Given the description of an element on the screen output the (x, y) to click on. 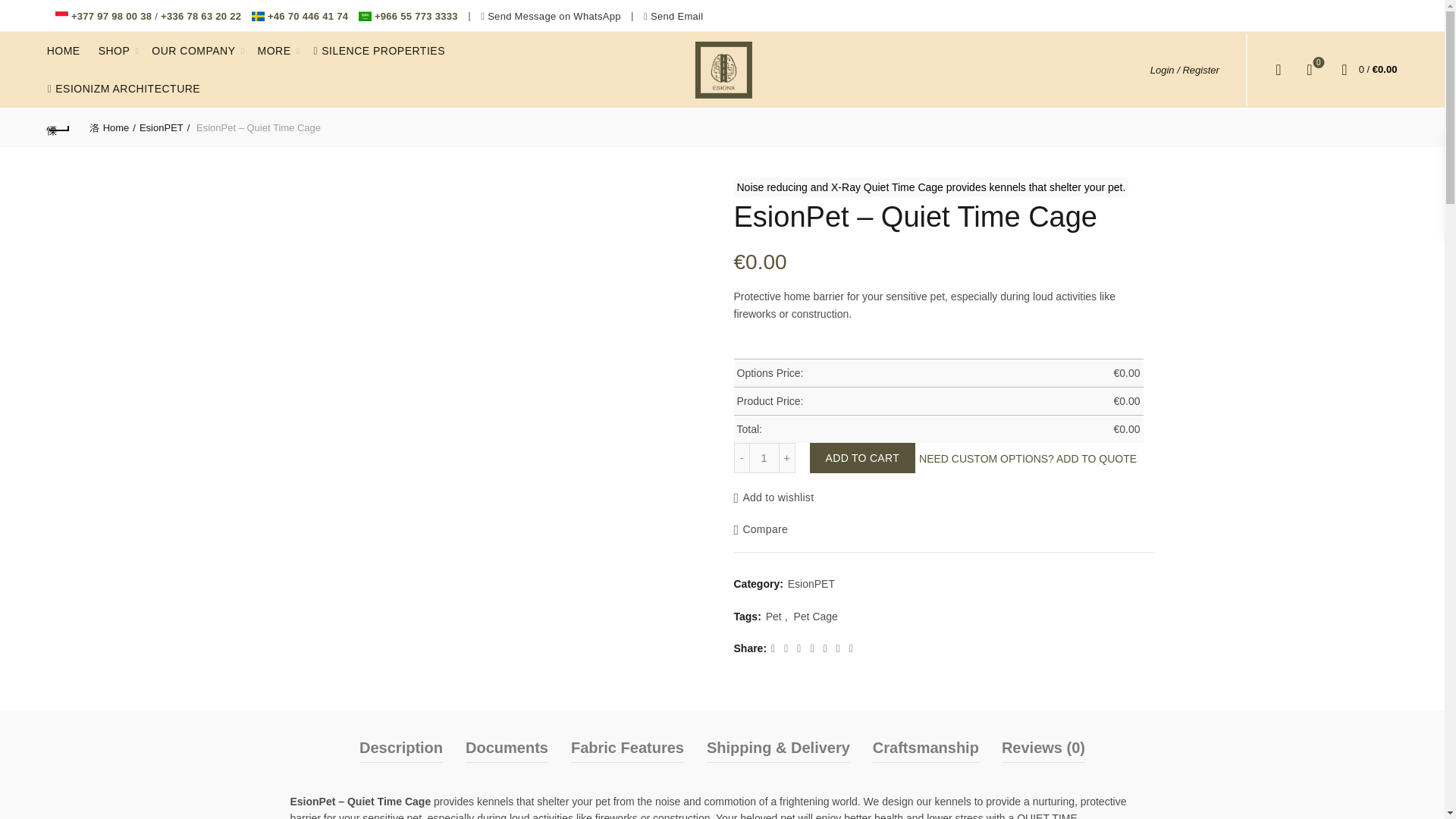
Qty (763, 458)
Send Message on WhatsApp (554, 16)
HOME (63, 50)
Send Email (676, 16)
SHOP (113, 50)
1 (763, 458)
